Given the description of an element on the screen output the (x, y) to click on. 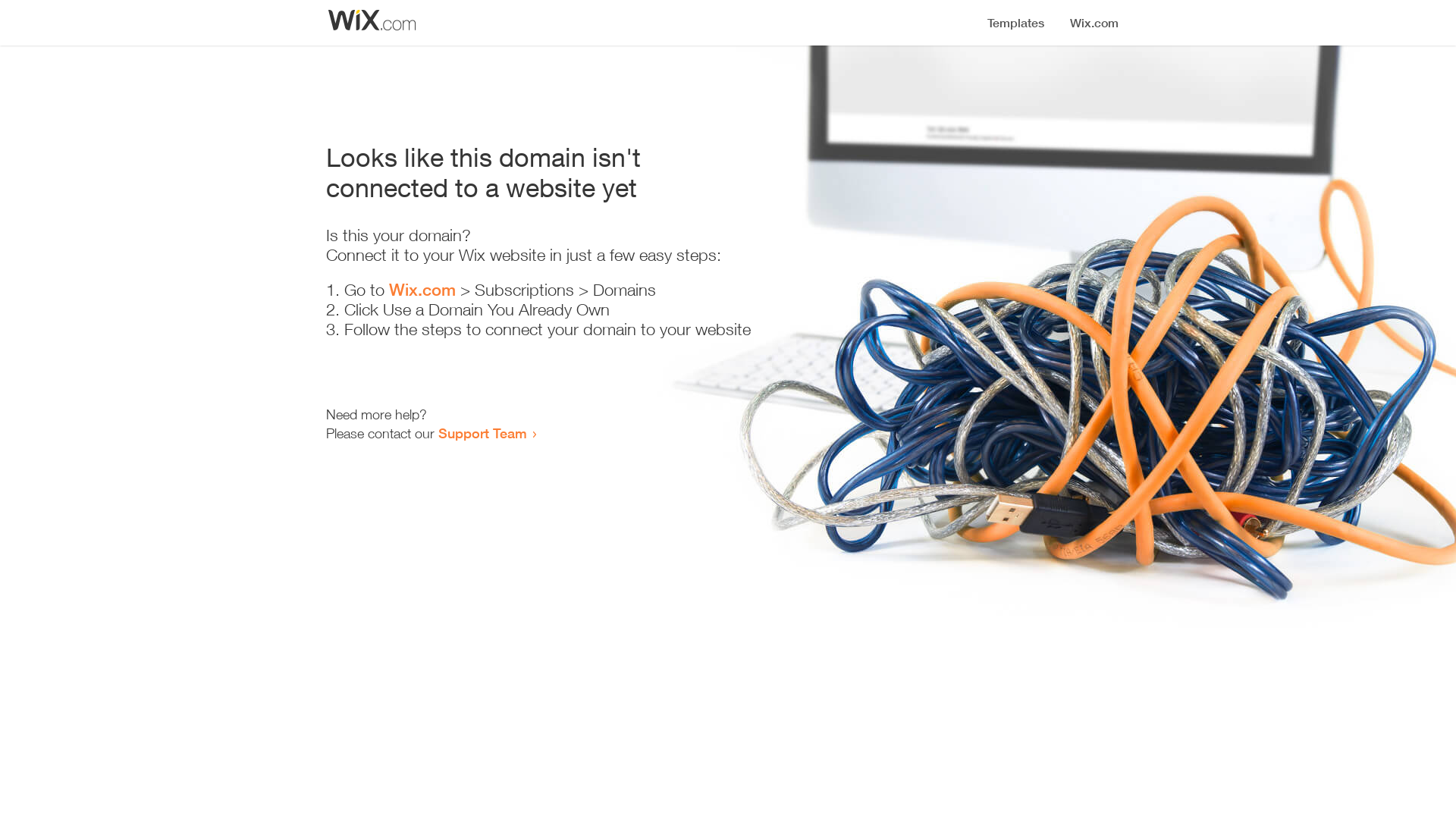
Wix.com Element type: text (422, 289)
Support Team Element type: text (482, 432)
